Given the description of an element on the screen output the (x, y) to click on. 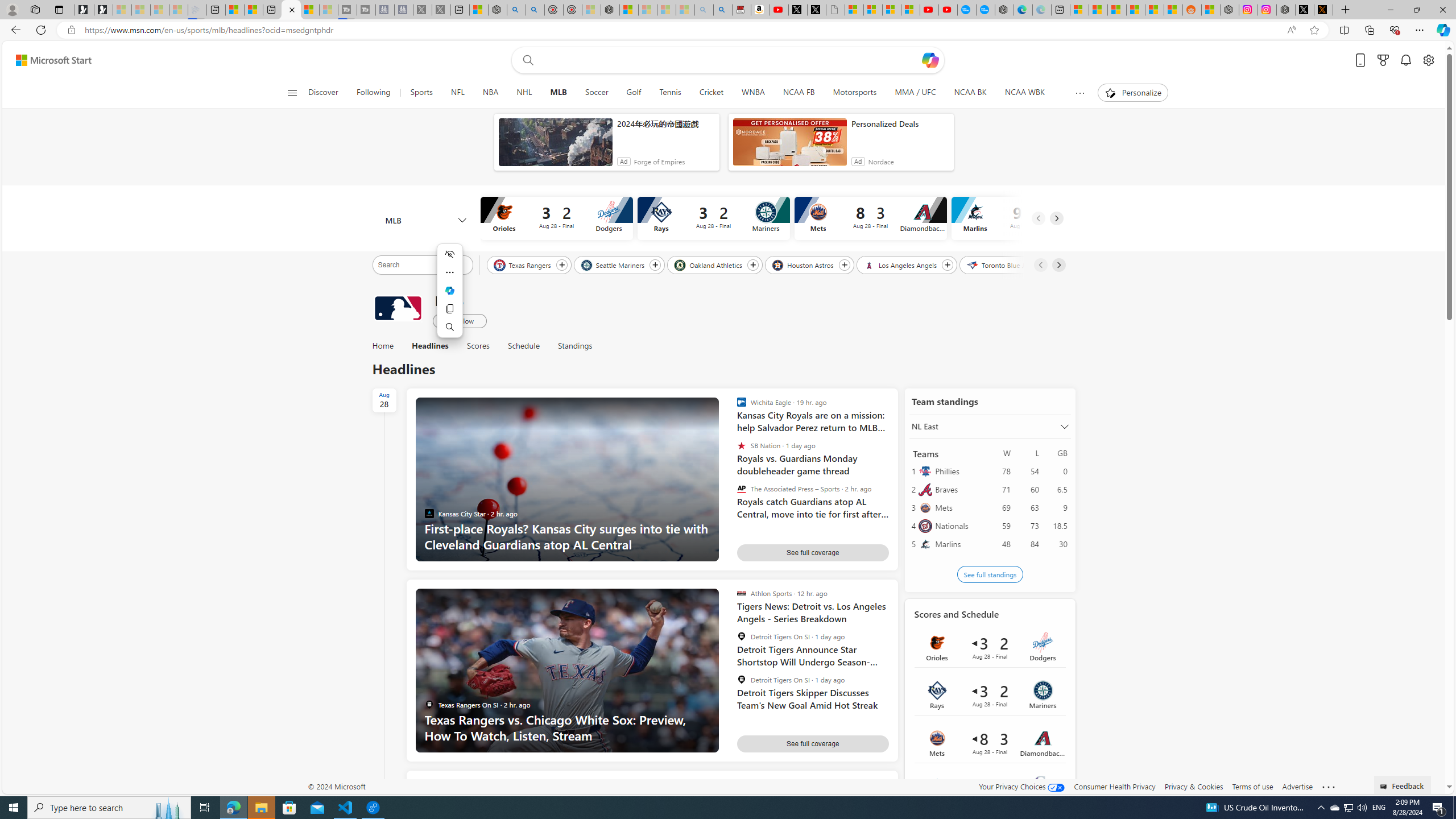
Class: button-glyph (292, 92)
Skip to footer (46, 59)
Follow Houston Astros (844, 265)
Show more topics (1079, 92)
Seattle Mariners (613, 264)
anim-content (789, 146)
